Given the description of an element on the screen output the (x, y) to click on. 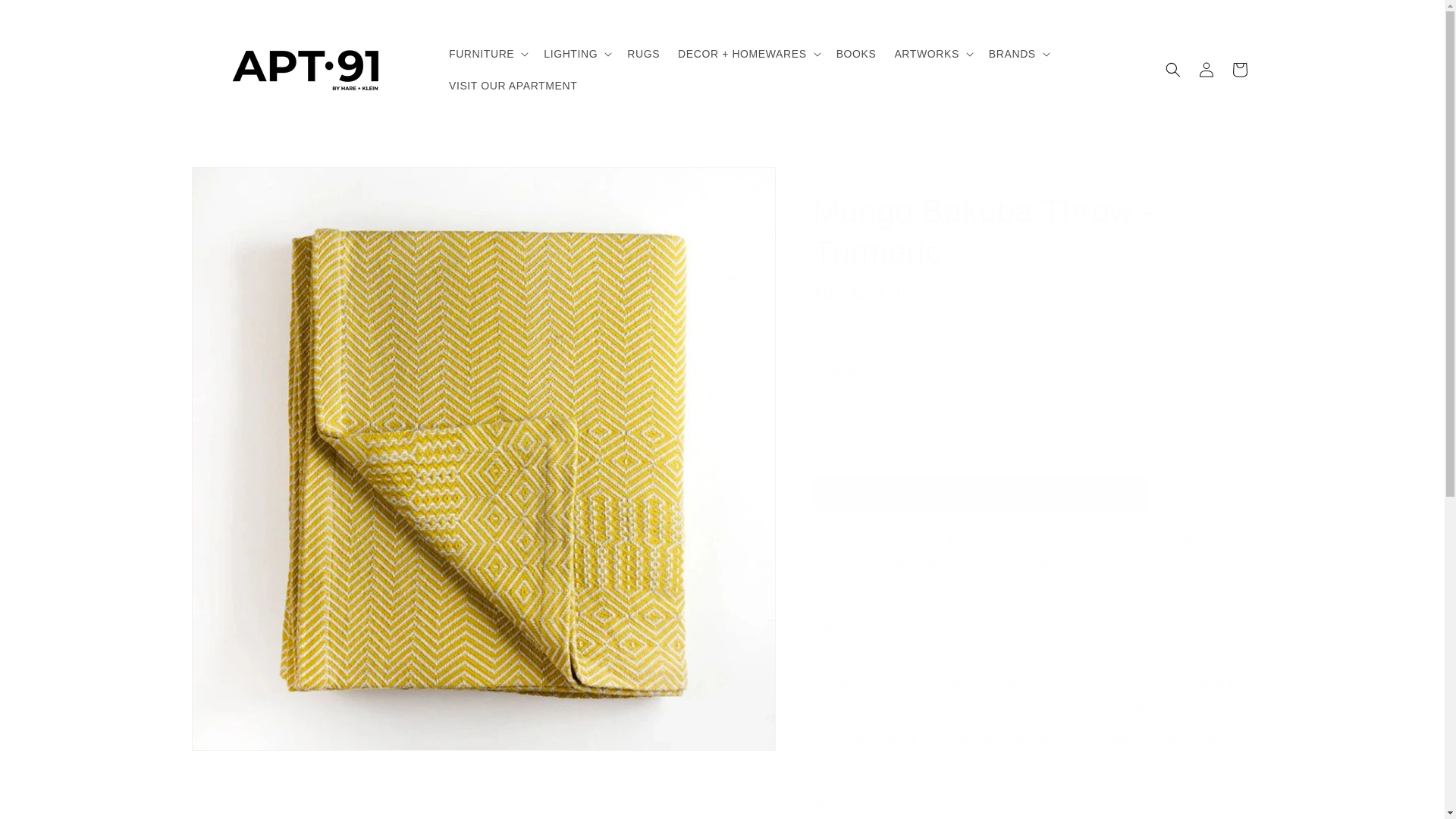
1 (866, 439)
Skip to content (45, 16)
